Given the description of an element on the screen output the (x, y) to click on. 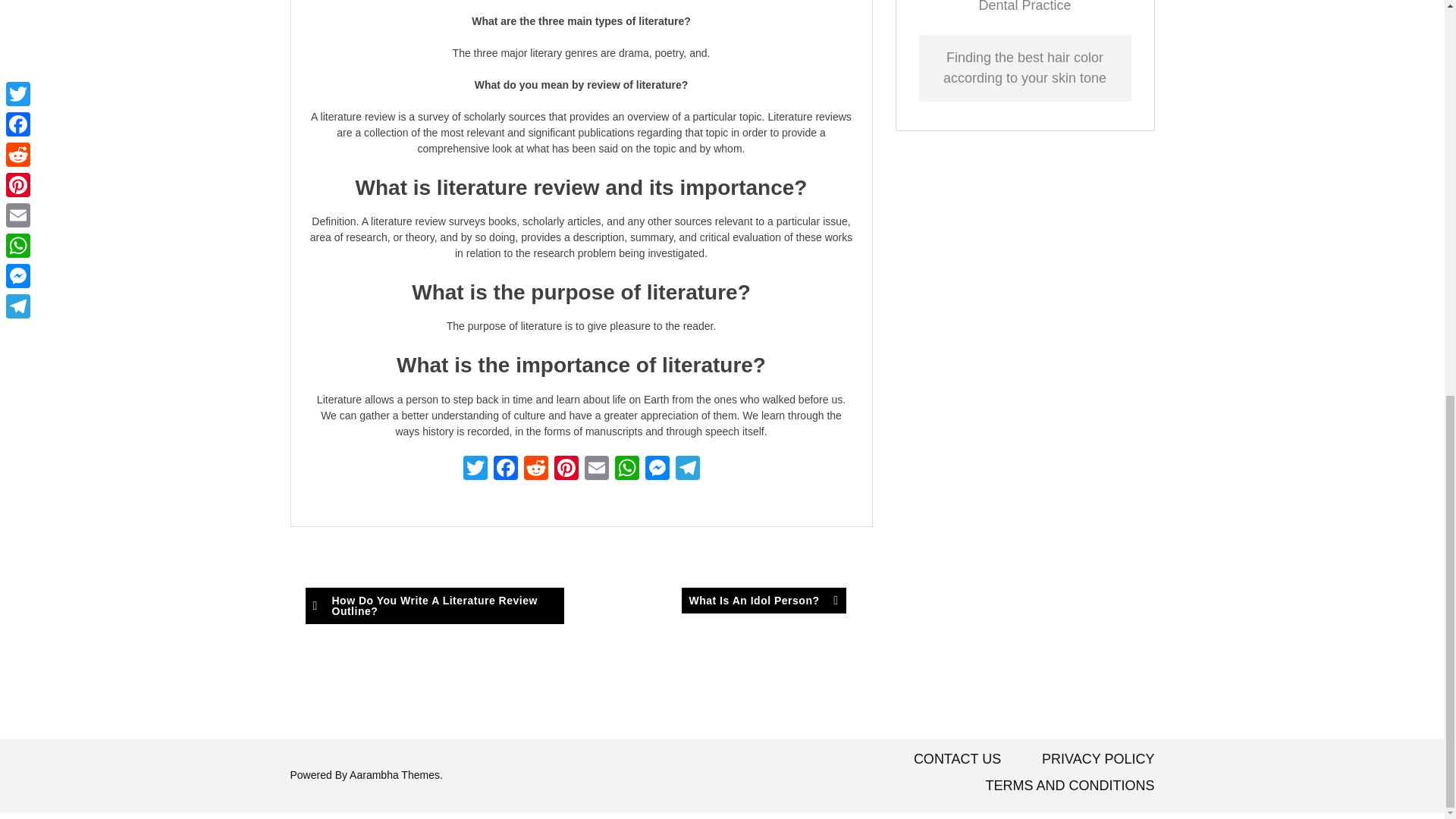
Messenger (656, 469)
Telegram (686, 469)
WhatsApp (626, 469)
Reddit (534, 469)
Messenger (656, 469)
CONTACT US (957, 758)
Twitter (474, 469)
WhatsApp (626, 469)
Facebook (504, 469)
Aarambha Themes (394, 775)
Trusted Software For Your Dental Practice (1023, 6)
Telegram (686, 469)
Twitter (474, 469)
Finding the best hair color according to your skin tone (1024, 67)
Email (595, 469)
